Given the description of an element on the screen output the (x, y) to click on. 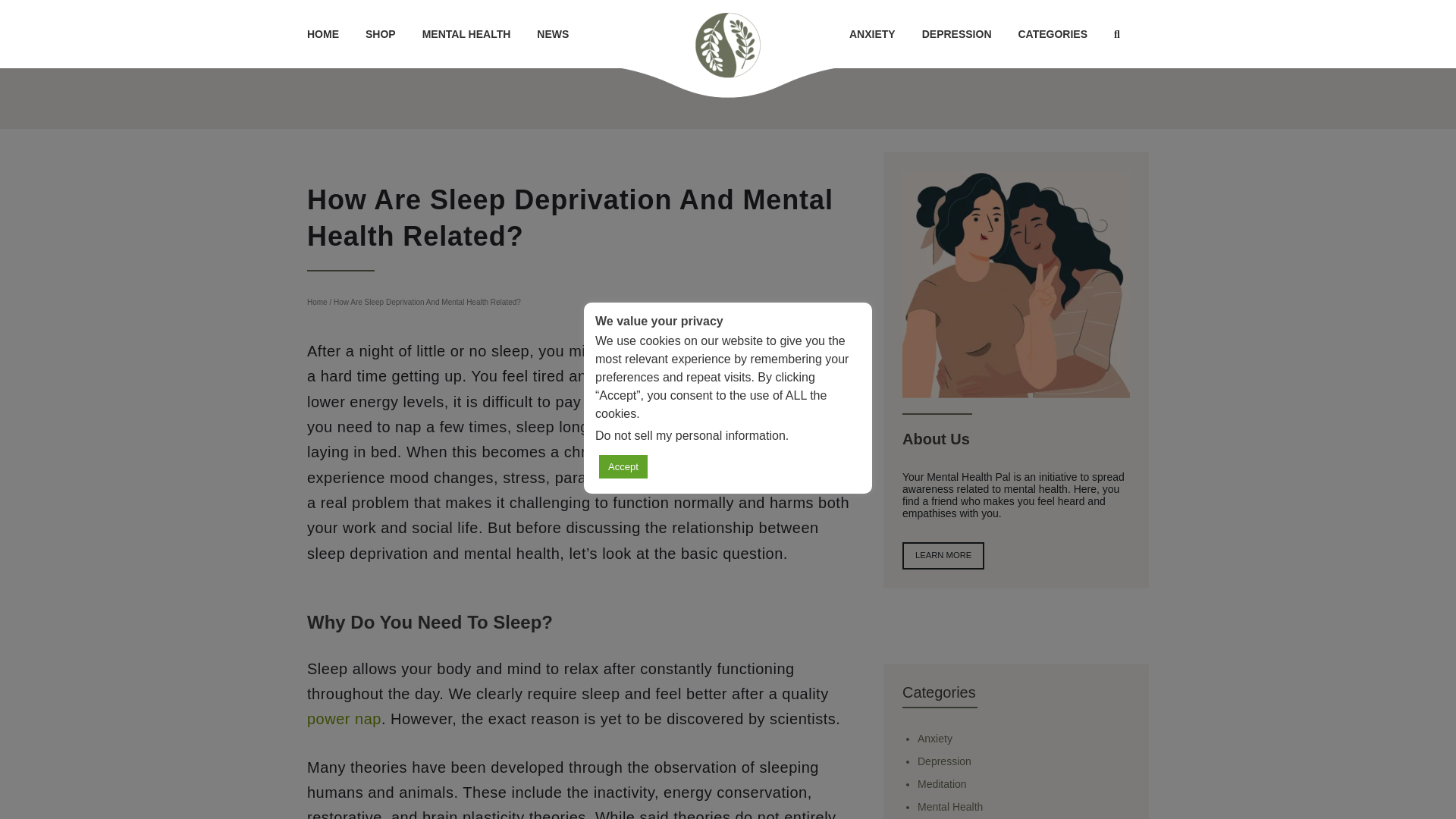
CATEGORIES (1053, 33)
Home (317, 302)
power nap (344, 718)
DEPRESSION (957, 33)
MENTAL HEALTH (466, 33)
